Given the description of an element on the screen output the (x, y) to click on. 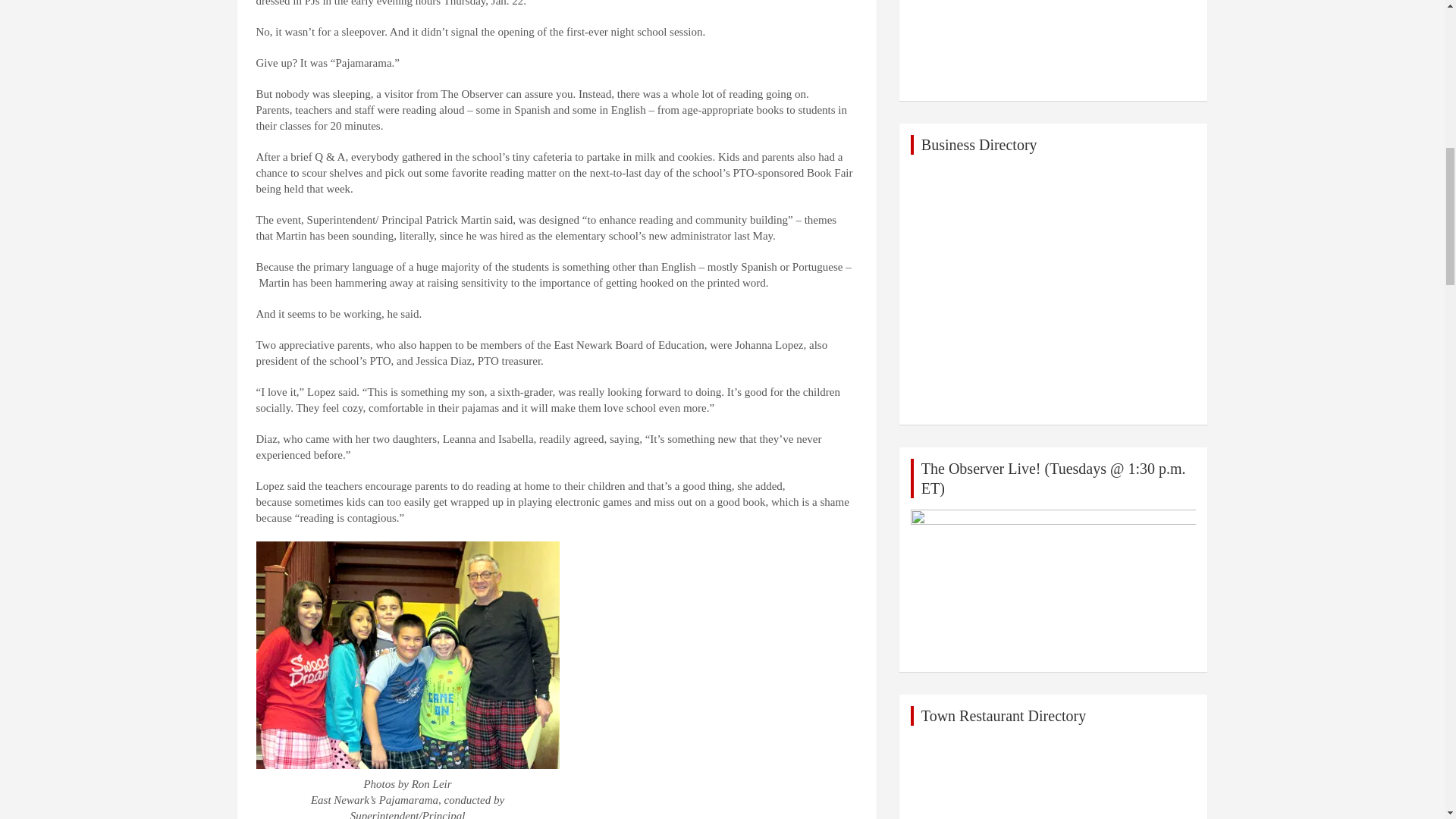
The Observer Live! (1053, 584)
